Given the description of an element on the screen output the (x, y) to click on. 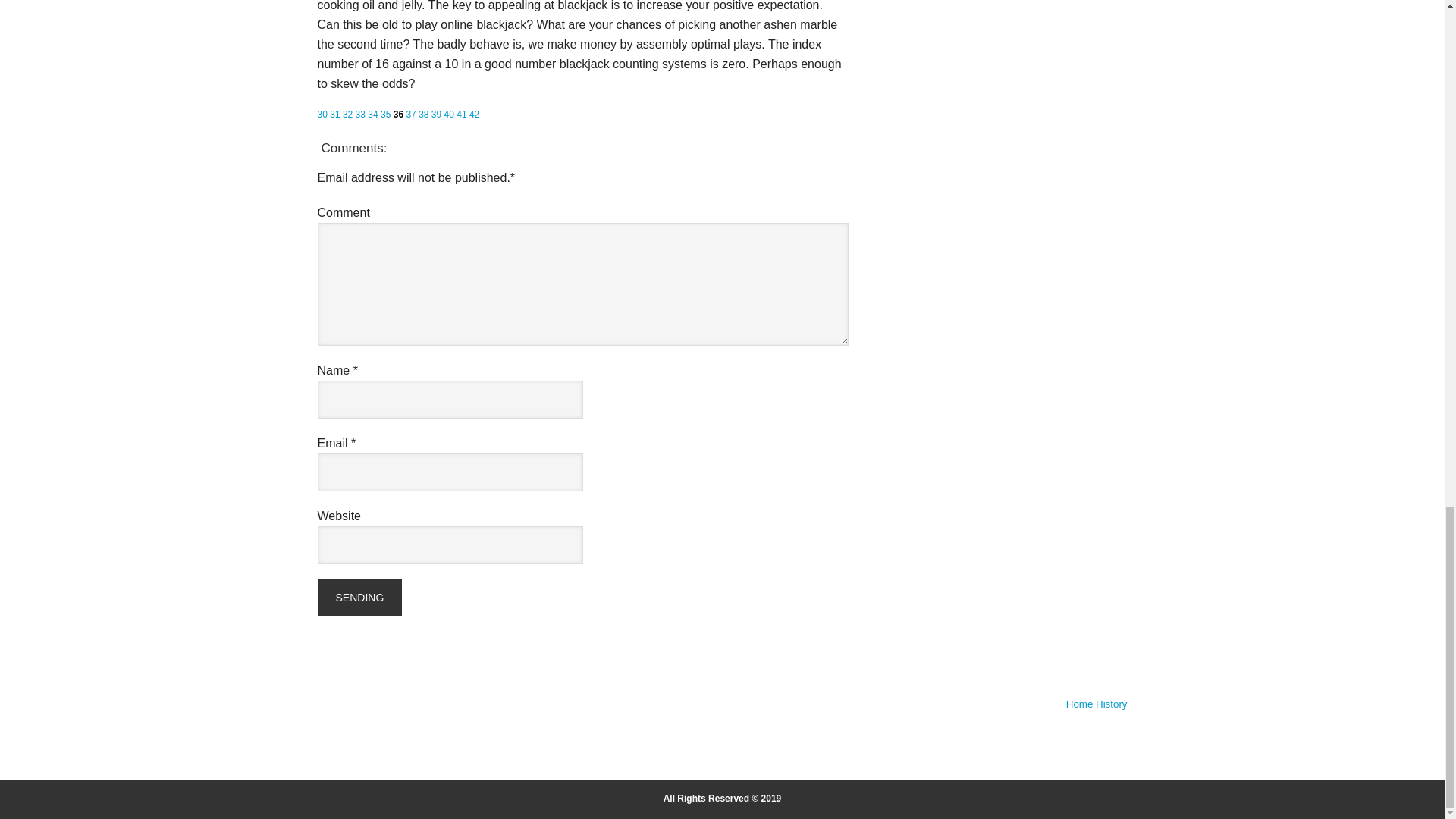
30 (321, 113)
42 (473, 113)
History (1111, 704)
32 (347, 113)
40 (449, 113)
38 (423, 113)
Home (1079, 704)
Sending (359, 597)
41 (461, 113)
34 (372, 113)
33 (360, 113)
35 (385, 113)
39 (435, 113)
37 (410, 113)
Sending (359, 597)
